Given the description of an element on the screen output the (x, y) to click on. 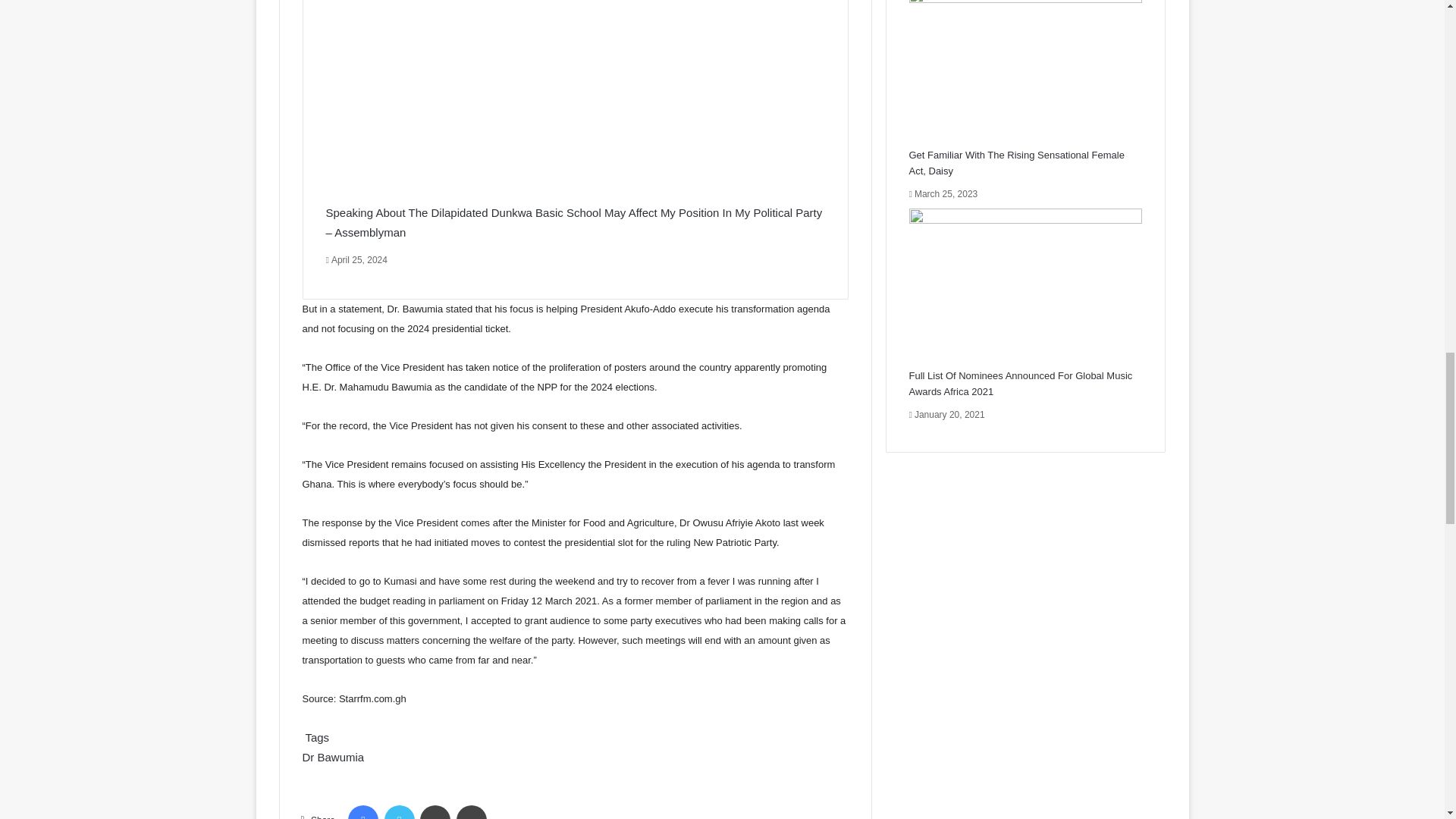
Twitter (399, 812)
LinkedIn (434, 812)
Facebook (362, 812)
Twitter (399, 812)
Pinterest (471, 812)
Dr Bawumia (332, 757)
Facebook (362, 812)
